Given the description of an element on the screen output the (x, y) to click on. 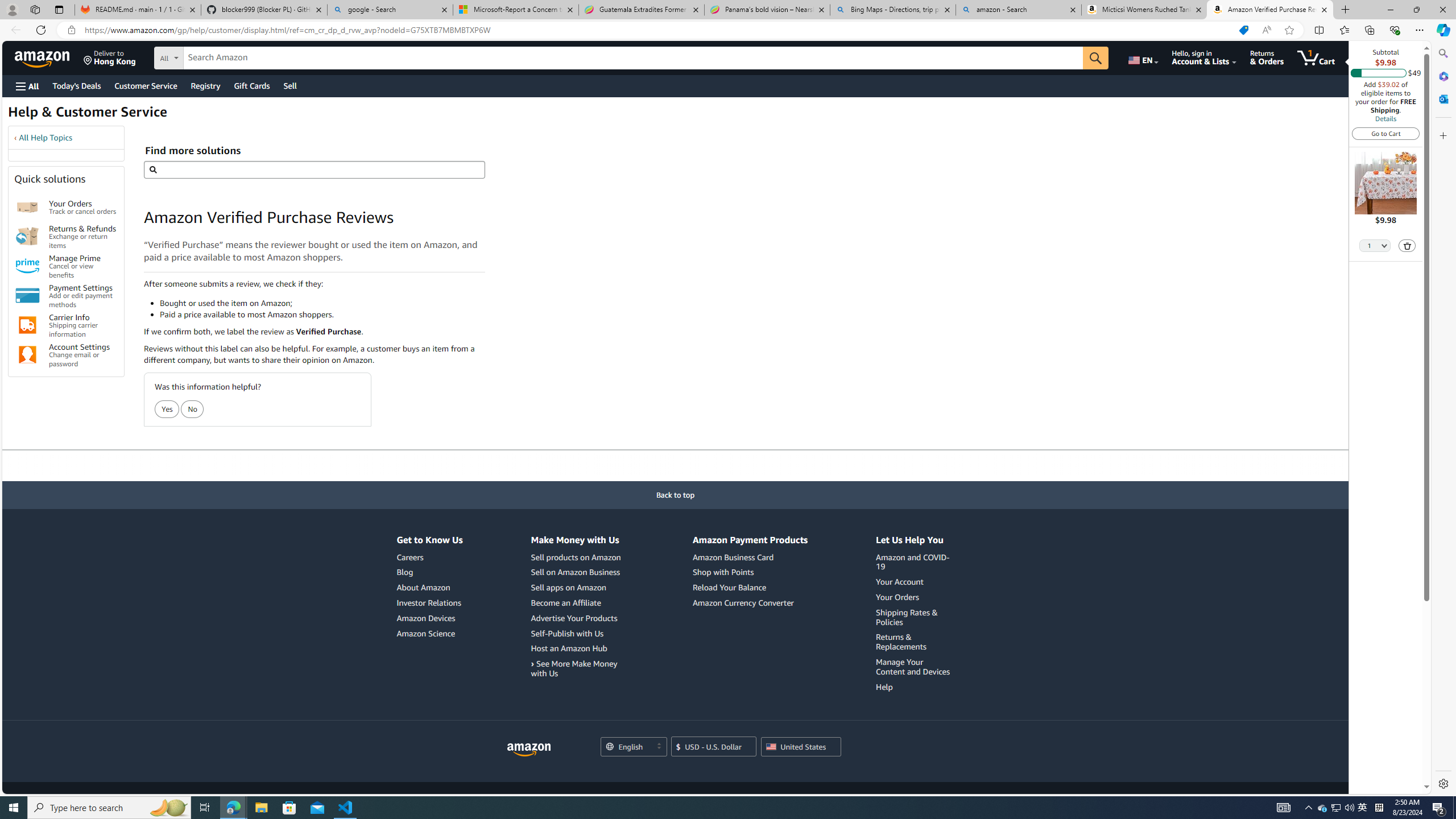
Sell on Amazon Business (574, 572)
Manage Your Content and Devices (914, 666)
See More Make Money with Us (573, 668)
Shipping Rates & Policies (914, 617)
All Help Topics (45, 137)
1 item in cart (1315, 57)
Amazon Devices (429, 618)
Become an Affiliate (576, 602)
Shipping Rates & Policies (906, 616)
Returns & Orders (1266, 57)
About Amazon (429, 587)
Go (1096, 57)
Investor Relations (428, 602)
